Given the description of an element on the screen output the (x, y) to click on. 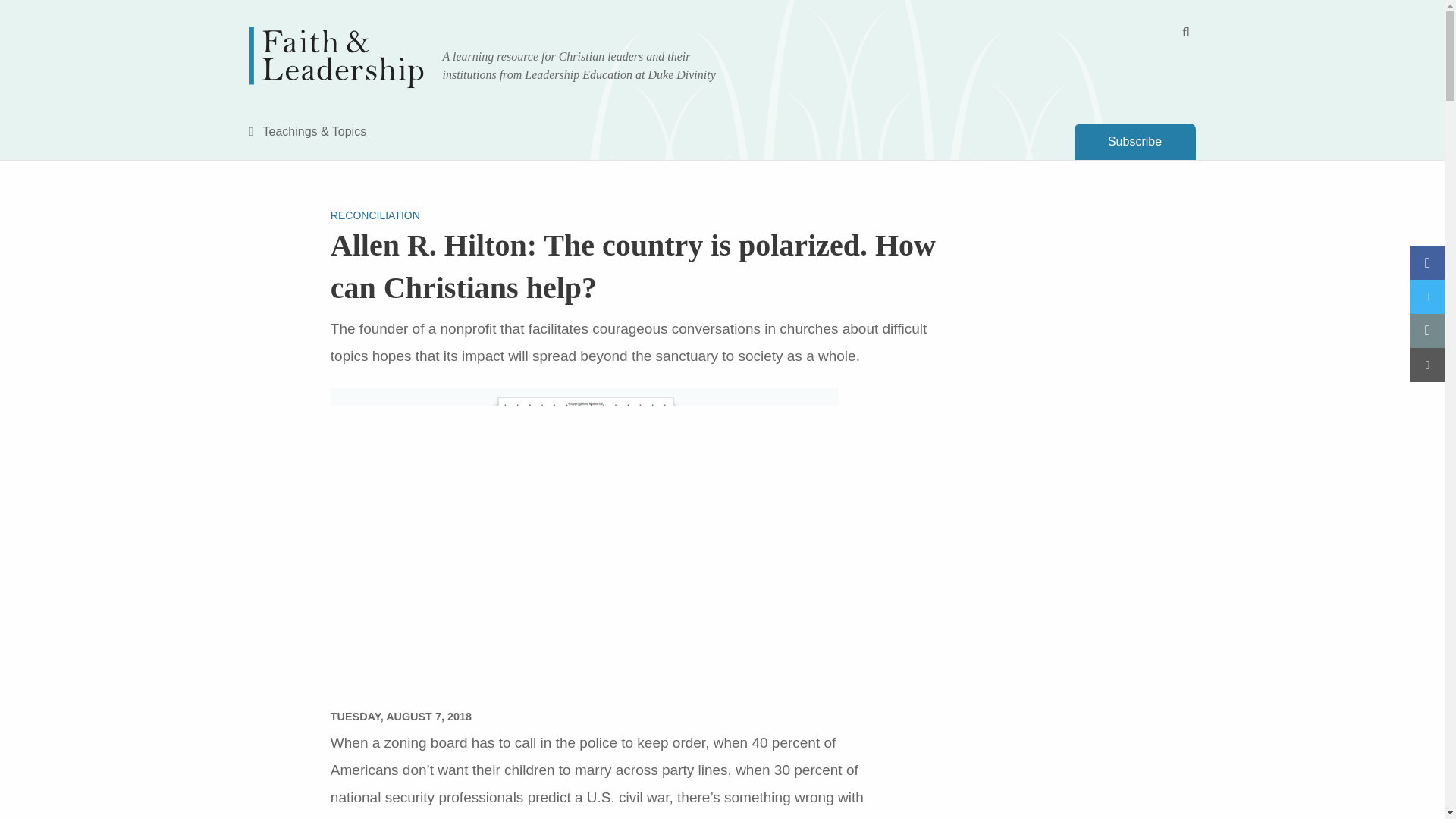
Toggle Search (1185, 32)
RECONCILIATION (375, 215)
Subscribe (1134, 141)
